Given the description of an element on the screen output the (x, y) to click on. 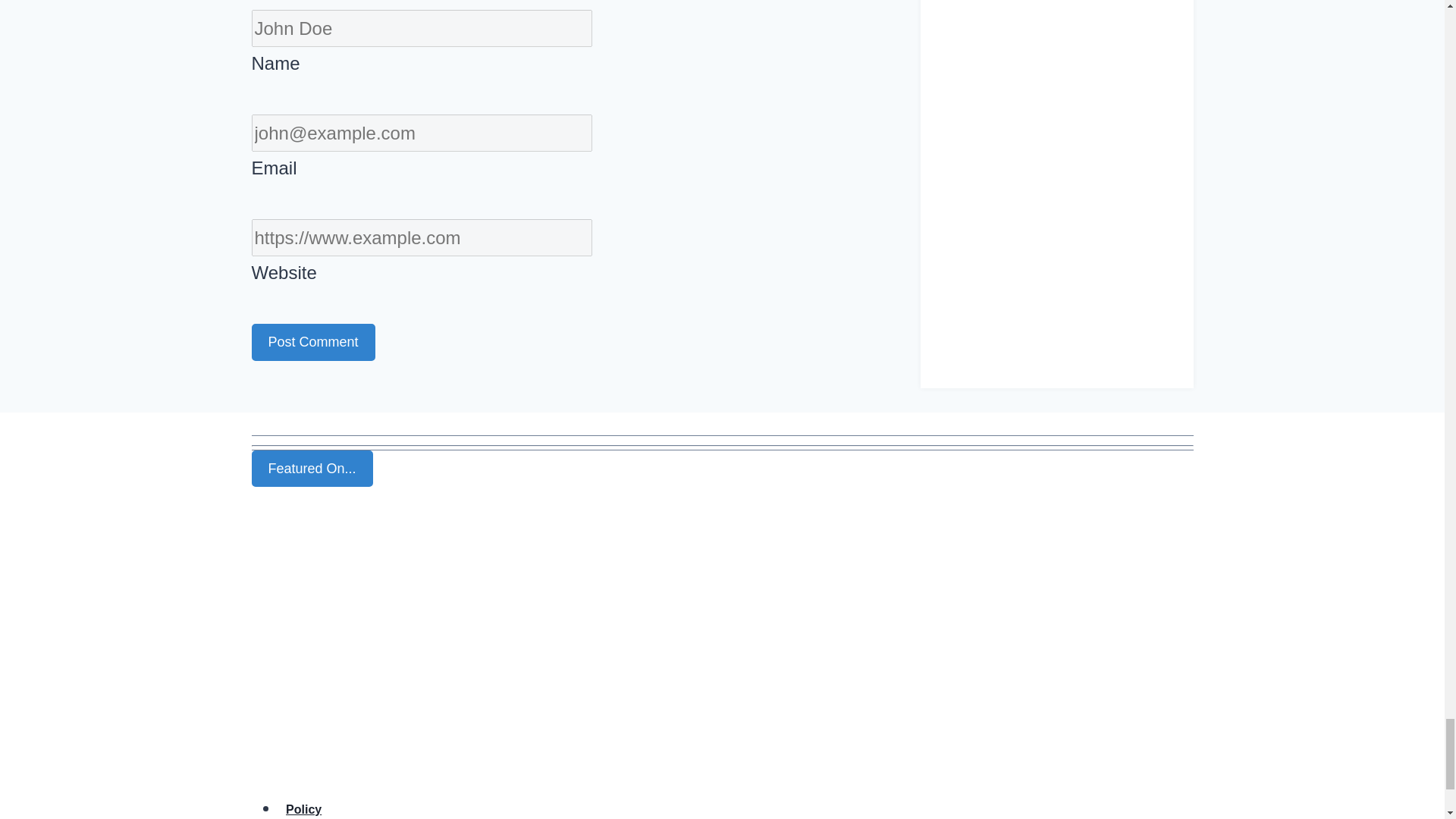
Post Comment (313, 342)
